Given the description of an element on the screen output the (x, y) to click on. 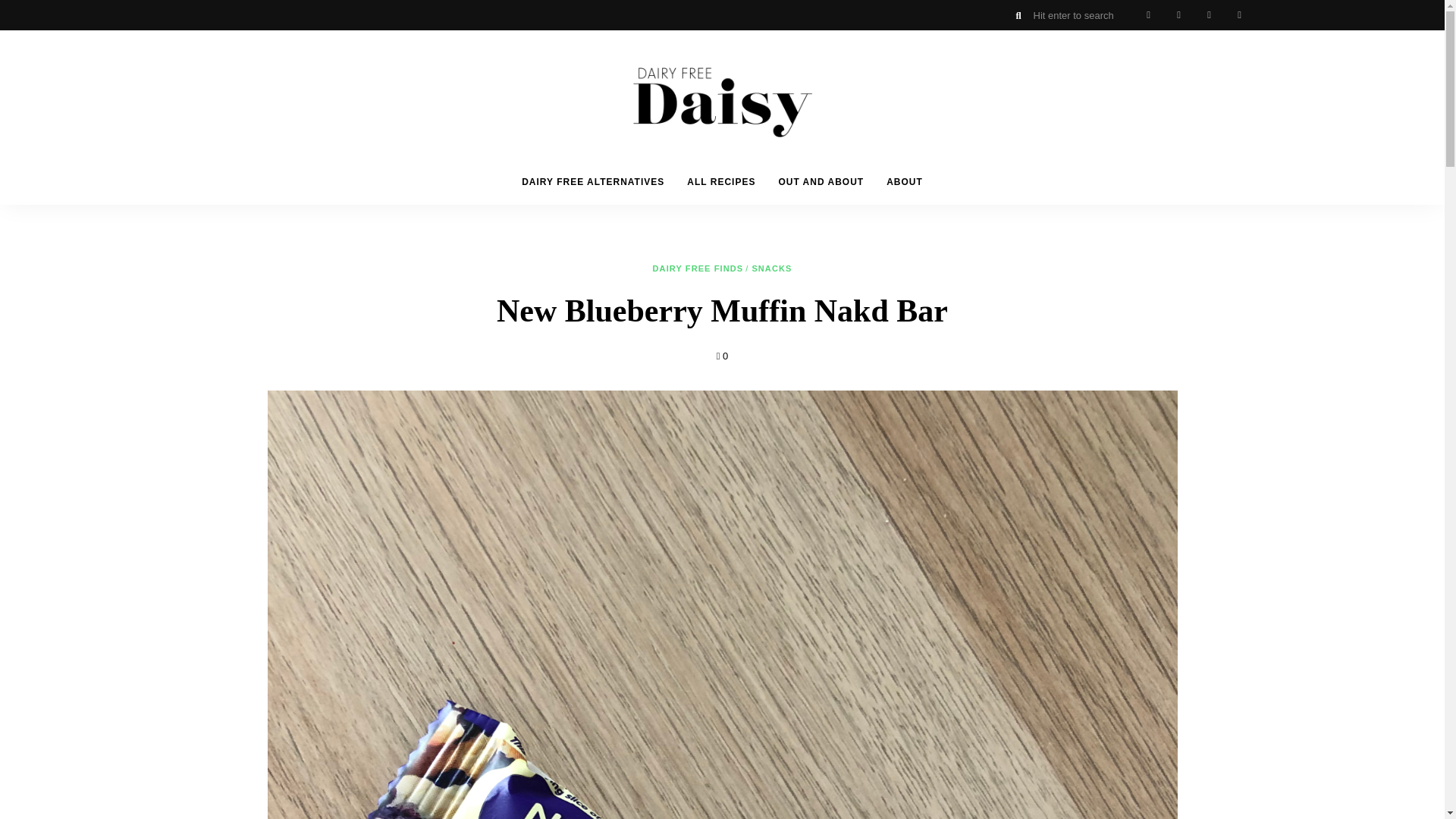
Twitter (1147, 15)
OUT AND ABOUT (821, 181)
Instaram (1178, 15)
Facebook (1208, 15)
DAIRY FREE ALTERNATIVES (593, 181)
Pinterest (1238, 15)
ABOUT (904, 181)
ALL RECIPES (721, 181)
